Given the description of an element on the screen output the (x, y) to click on. 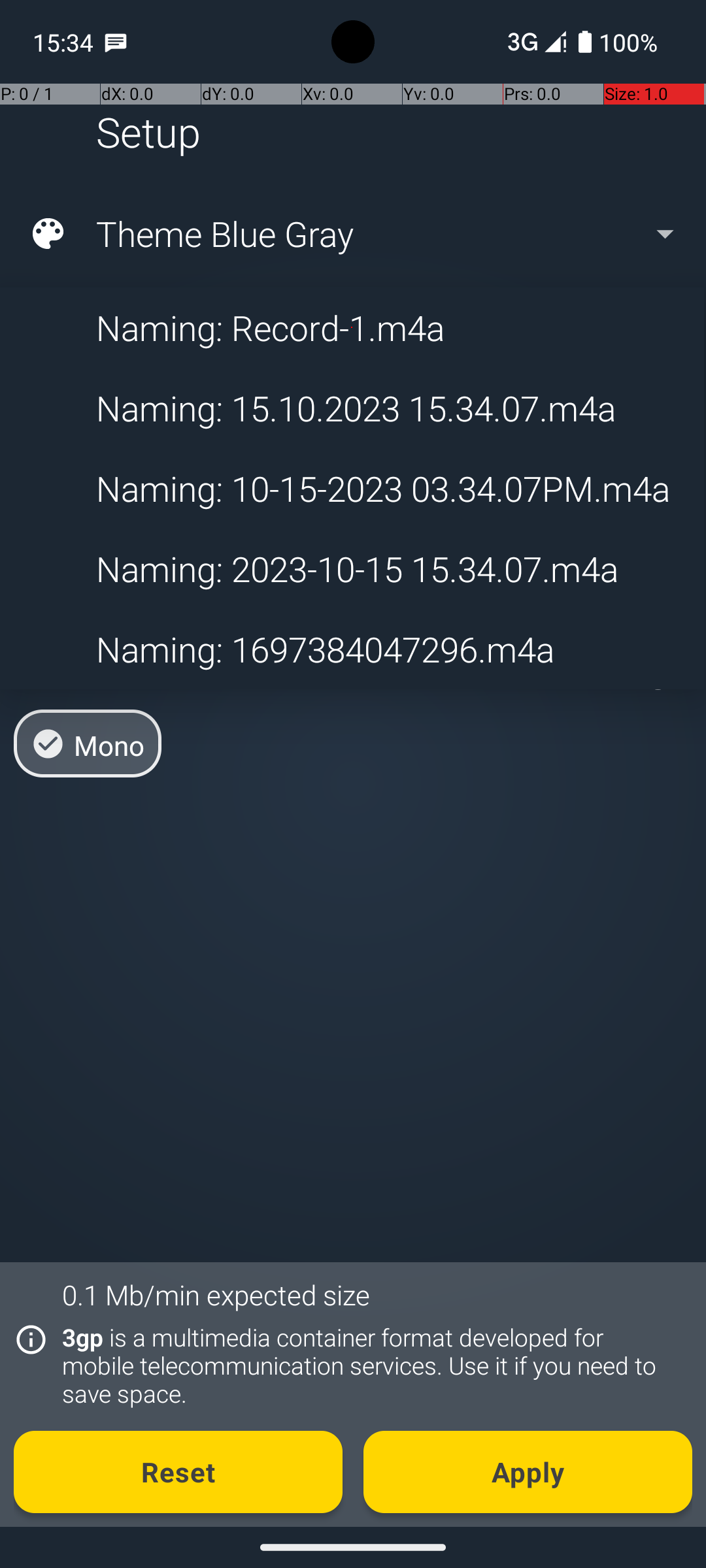
Naming: 15.10.2023 15.34.07.m4a Element type: android.widget.TextView (352, 407)
Naming: 10-15-2023 03.34.07PM.m4a Element type: android.widget.TextView (352, 488)
Naming: 2023-10-15 15.34.07.m4a Element type: android.widget.TextView (352, 568)
Naming: 1697384047296.m4a Element type: android.widget.TextView (352, 648)
